Given the description of an element on the screen output the (x, y) to click on. 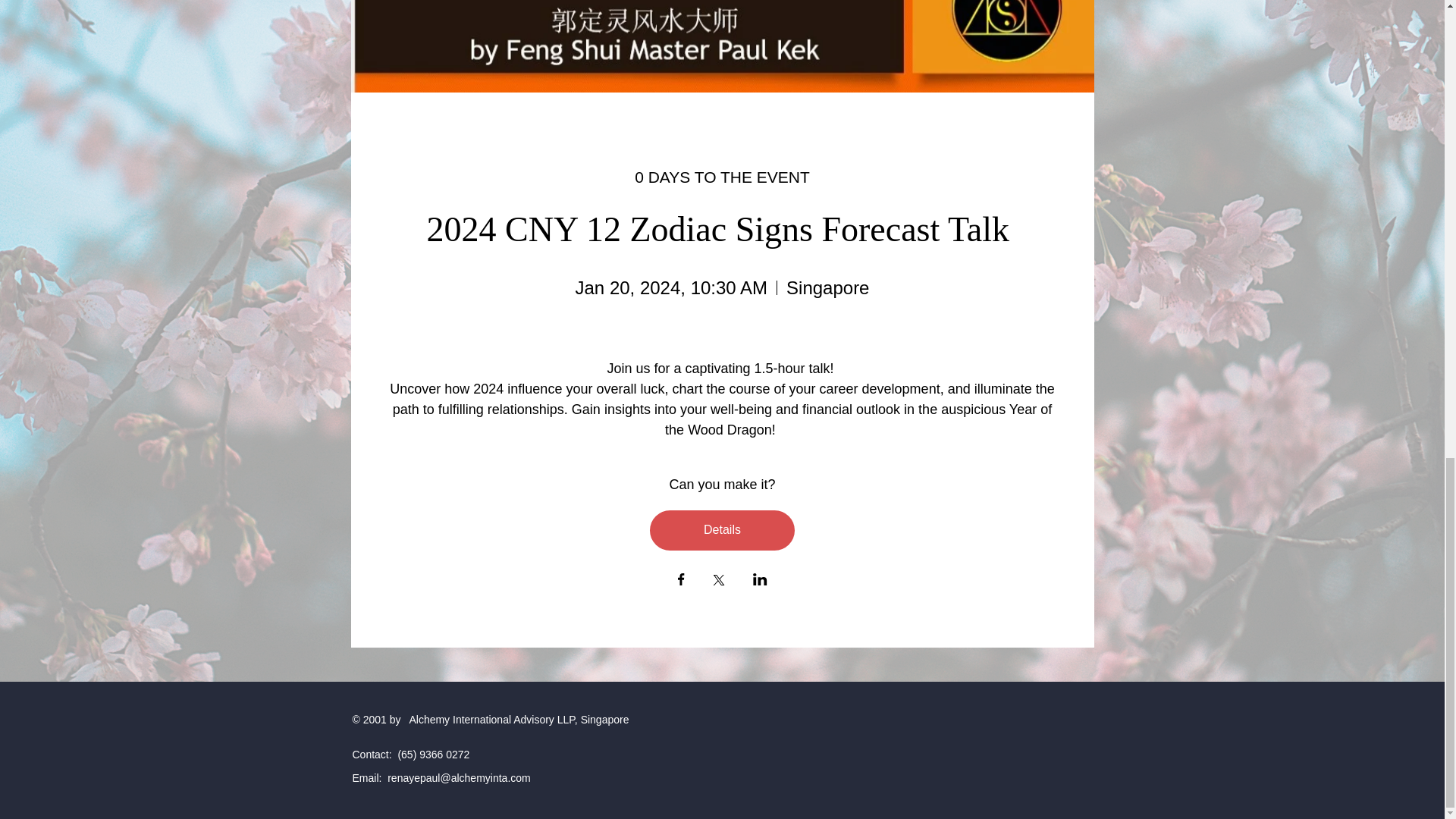
2024 CNY 12 Zodiac Signs Forecast Talk  (721, 228)
Details (721, 530)
